Given the description of an element on the screen output the (x, y) to click on. 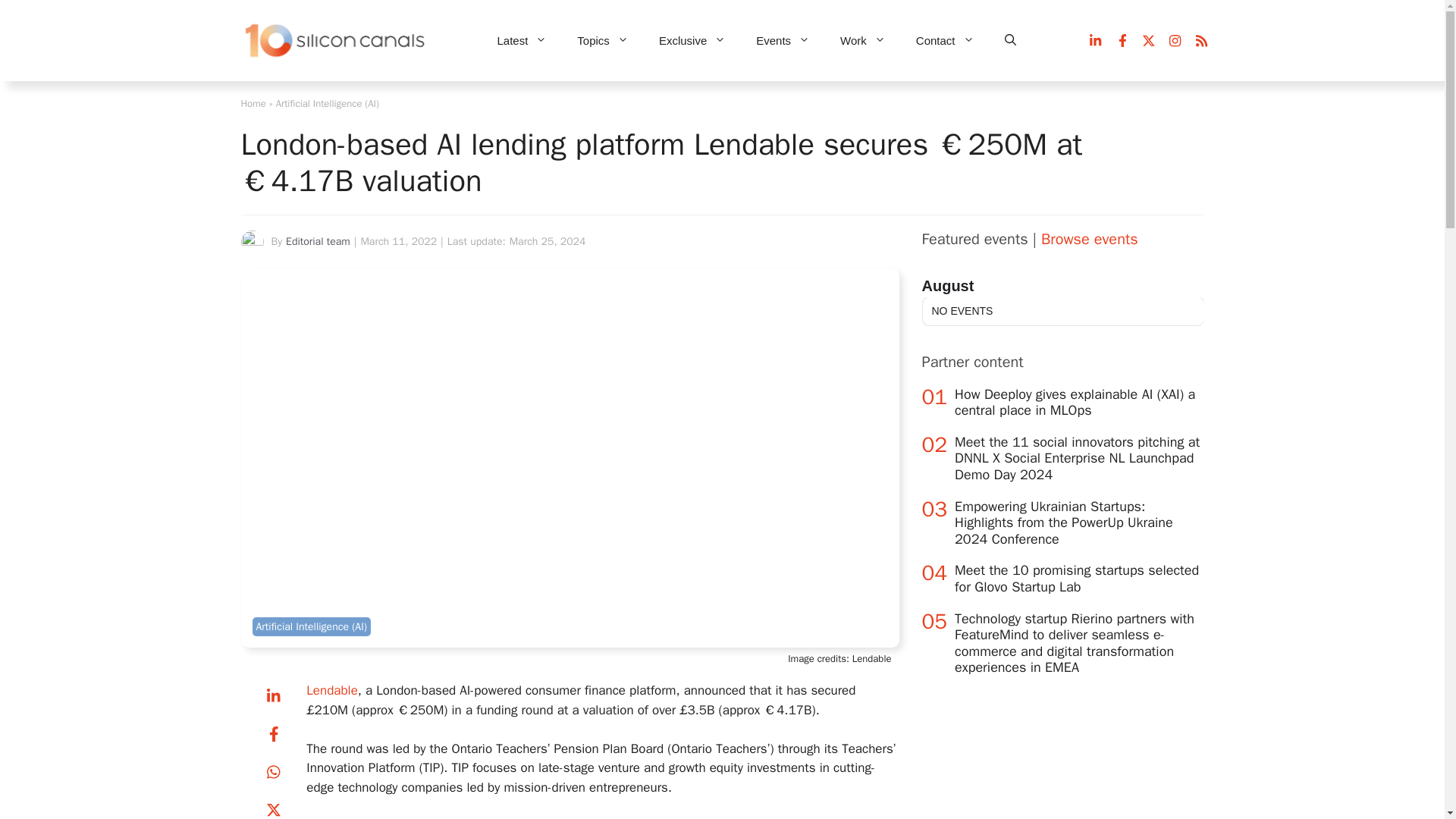
SC 10 year horizontal (335, 40)
Work (863, 40)
Events (783, 40)
Exclusive (692, 40)
Topics (602, 40)
Latest (521, 40)
